Given the description of an element on the screen output the (x, y) to click on. 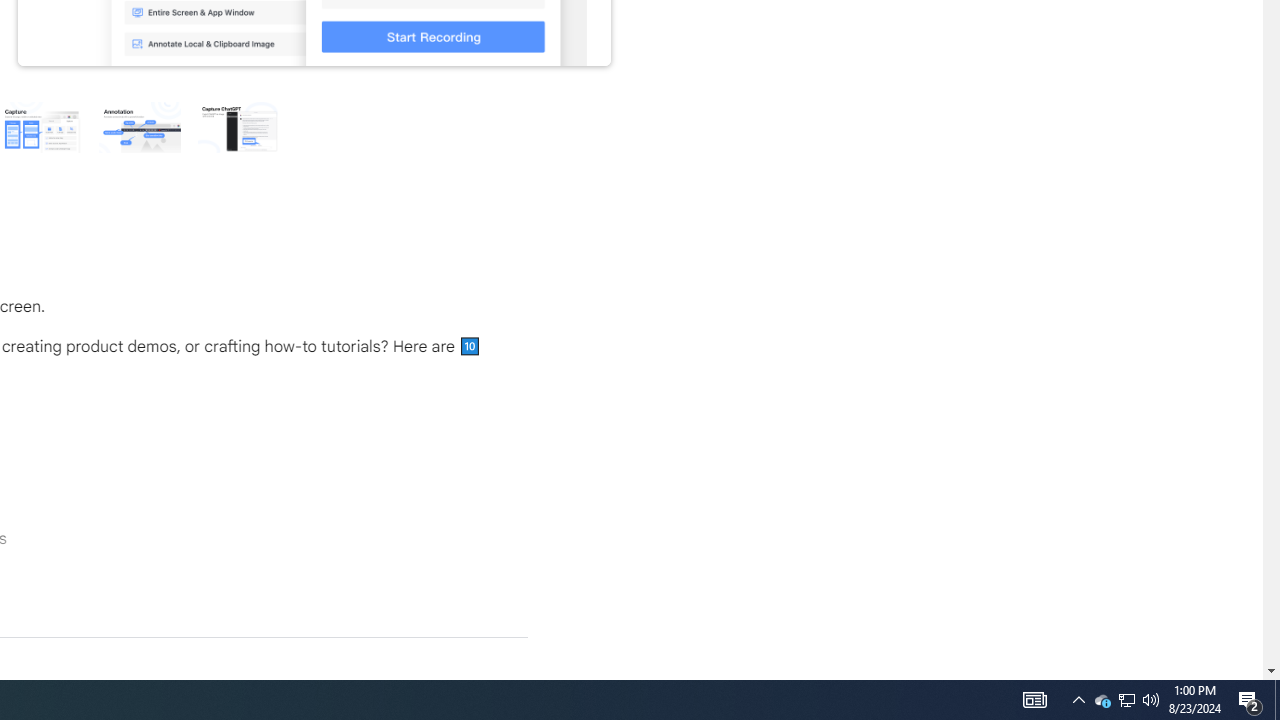
Preview slide 6 (238, 126)
Preview slide 5 (139, 126)
Preview slide 4 (40, 126)
